Given the description of an element on the screen output the (x, y) to click on. 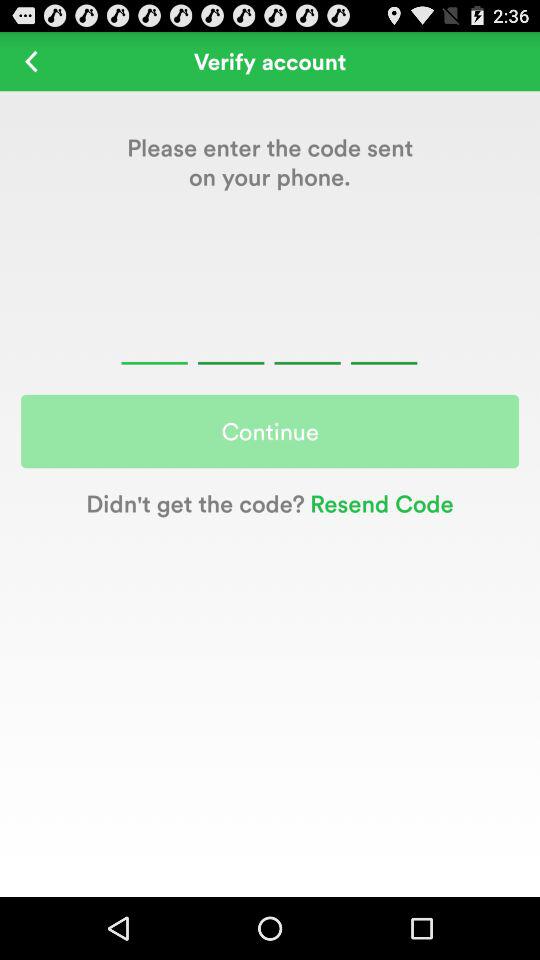
code entry (269, 339)
